Given the description of an element on the screen output the (x, y) to click on. 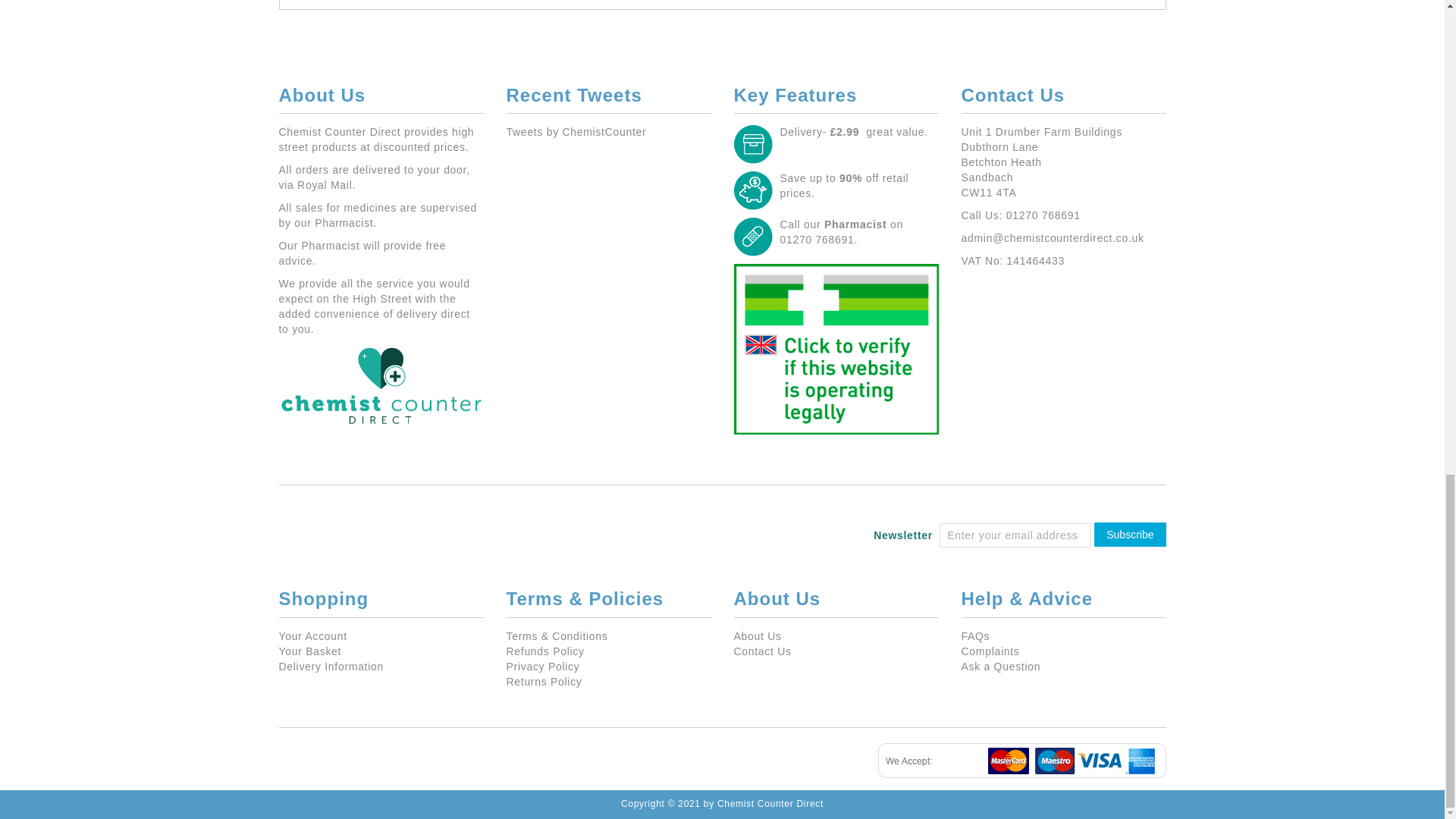
Subscribe (1130, 534)
